Given the description of an element on the screen output the (x, y) to click on. 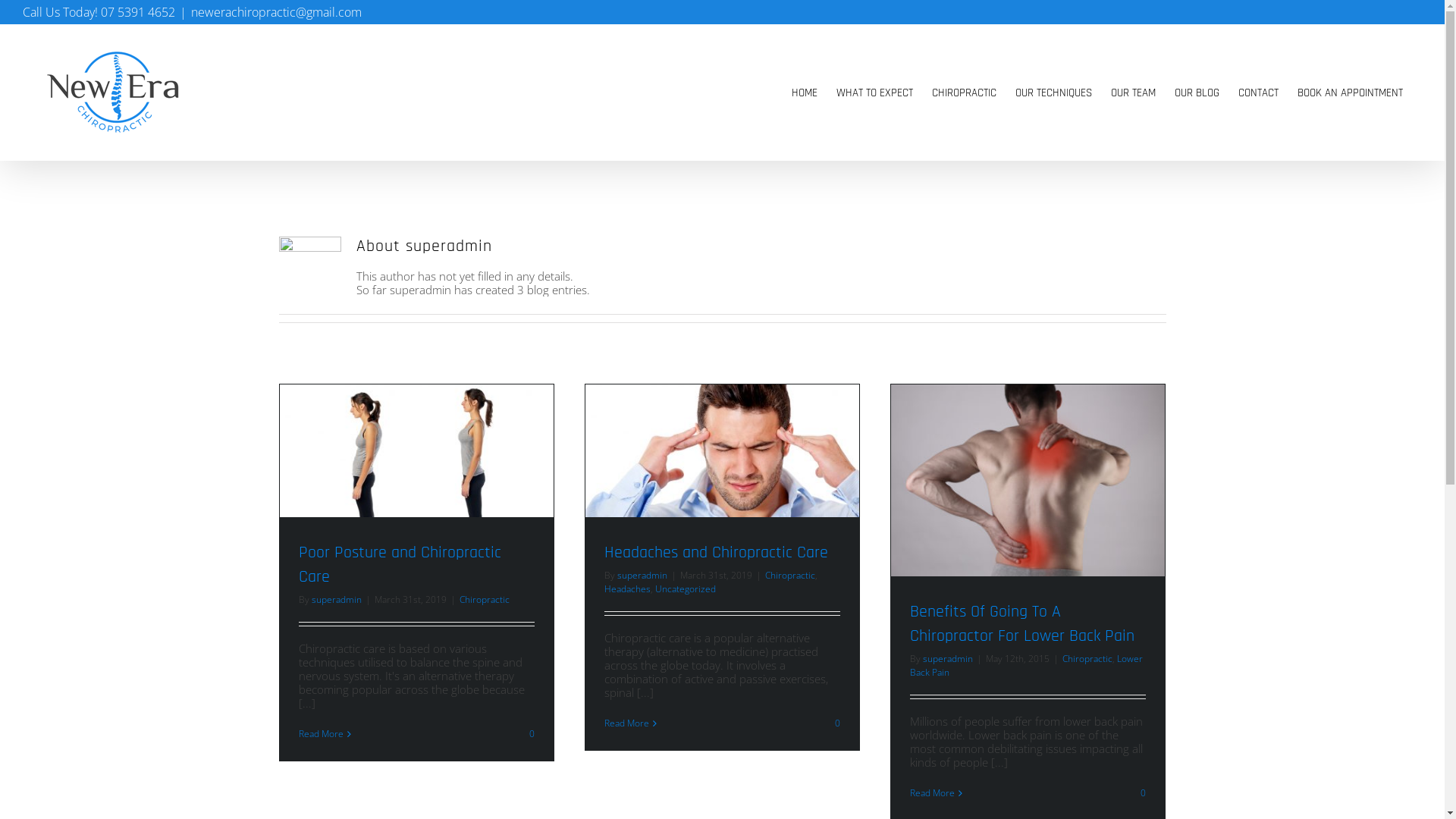
BOOK AN APPOINTMENT Element type: text (1349, 92)
Poor Posture and Chiropractic Care Element type: text (399, 564)
CHIROPRACTIC Element type: text (963, 92)
Read More Element type: text (625, 723)
 0 Element type: text (836, 722)
WHAT TO EXPECT Element type: text (874, 92)
Chiropractic Element type: text (484, 599)
OUR BLOG Element type: text (1196, 92)
07 5391 4652 Element type: text (137, 11)
 0 Element type: text (1141, 792)
Headaches and Chiropractic Care Element type: text (715, 552)
OUR TEAM Element type: text (1132, 92)
Chiropractic Element type: text (1086, 658)
Read More Element type: text (320, 733)
Headaches Element type: text (626, 588)
superadmin Element type: text (947, 658)
superadmin Element type: text (335, 599)
Uncategorized Element type: text (685, 588)
HOME Element type: text (804, 92)
superadmin Element type: text (642, 574)
 0 Element type: text (530, 733)
Benefits Of Going To A Chiropractor For Lower Back Pain Element type: text (1022, 623)
CONTACT Element type: text (1258, 92)
Chiropractic Element type: text (789, 574)
Read More Element type: text (932, 792)
OUR TECHNIQUES Element type: text (1053, 92)
newerachiropractic@gmail.com Element type: text (276, 11)
Lower Back Pain Element type: text (1026, 665)
